Given the description of an element on the screen output the (x, y) to click on. 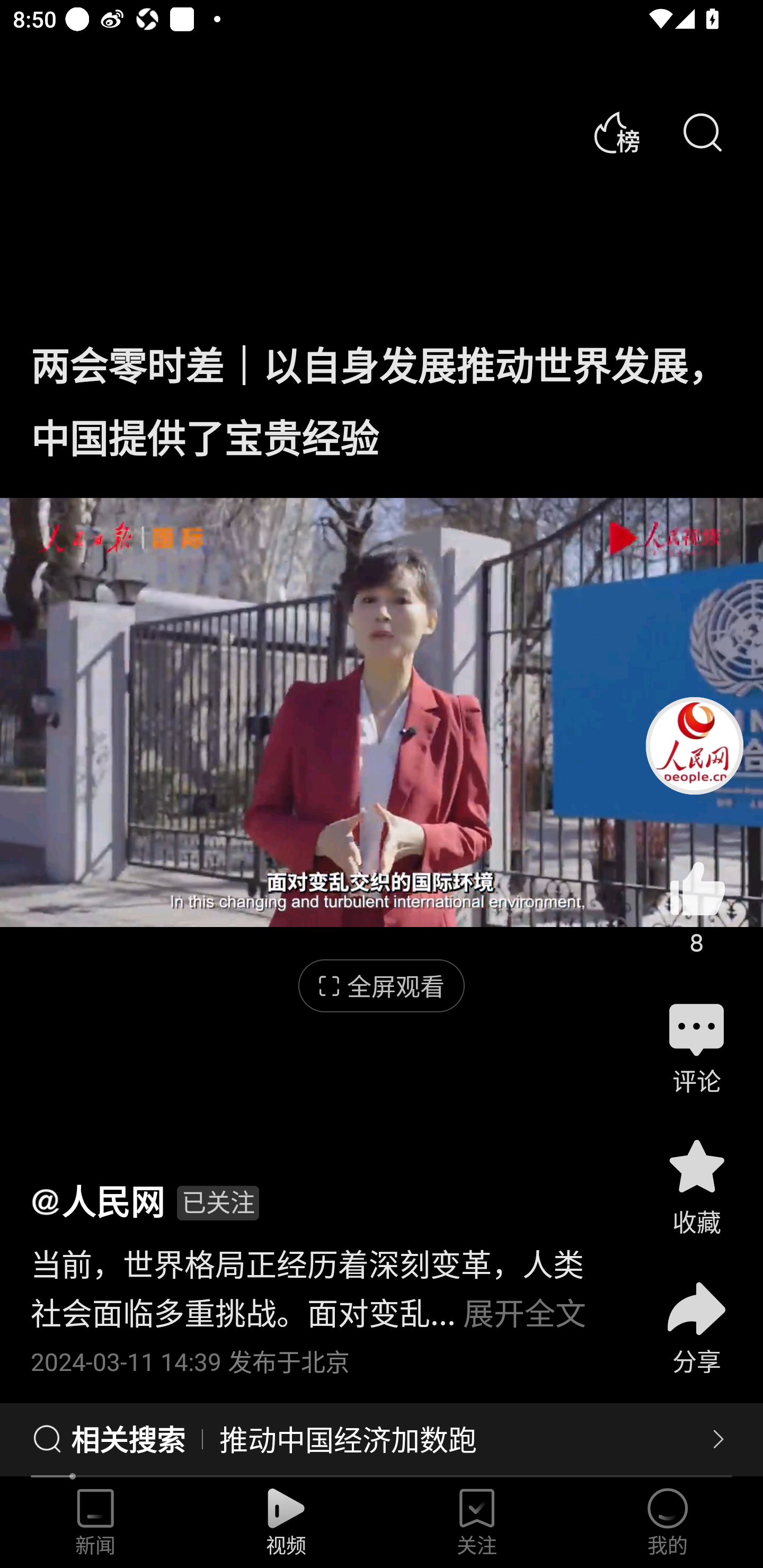
 热榜 (616, 133)
 搜索 (701, 133)
赞 8 (696, 906)
全屏观看 (381, 985)
评论  评论 (696, 1045)
收藏 (696, 1184)
人民网 (97, 1200)
分享  分享 (696, 1315)
相关搜索 推动中国经济加数跑  (381, 1440)
